Given the description of an element on the screen output the (x, y) to click on. 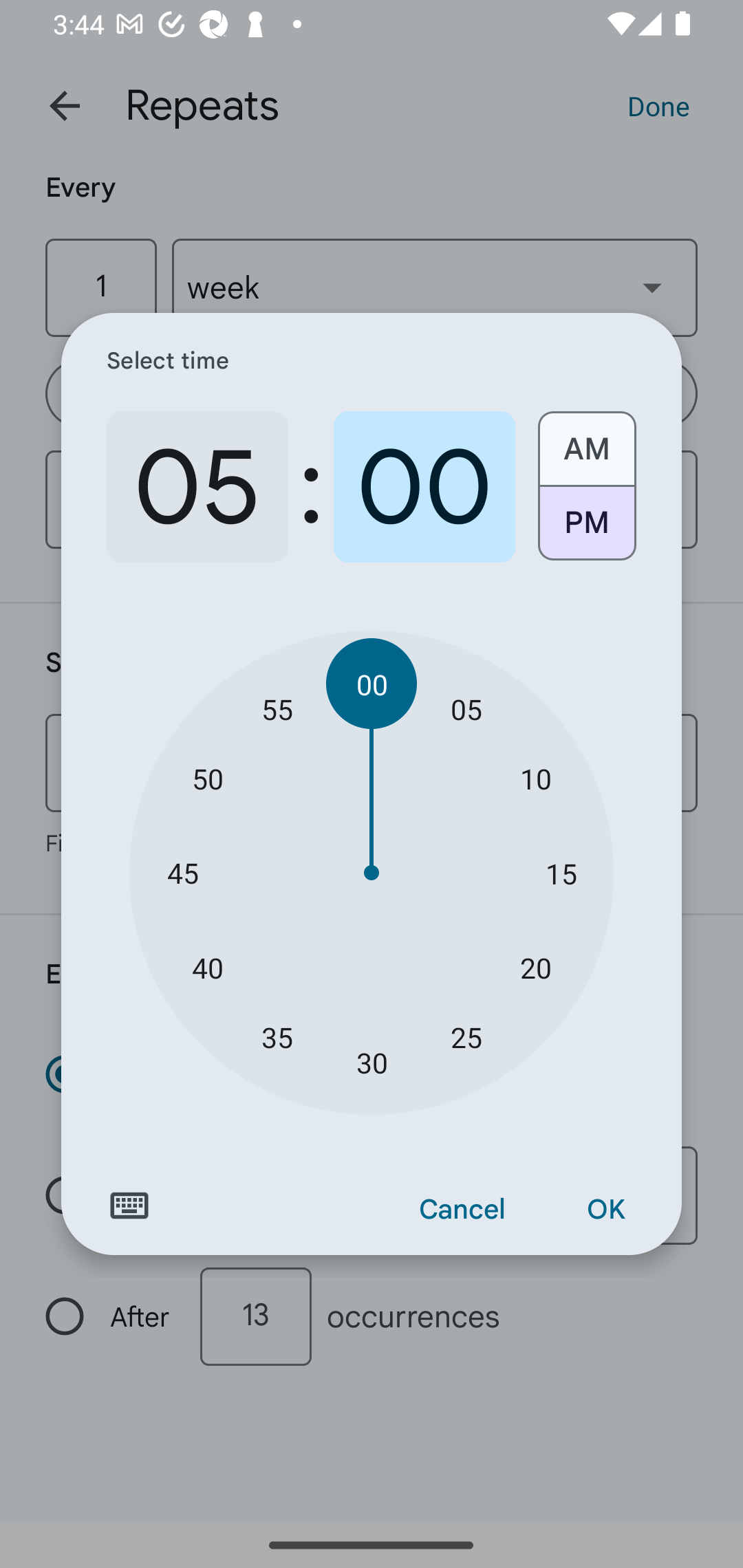
AM (586, 441)
05 5 o'clock (197, 486)
00 0 minutes (424, 486)
PM (586, 529)
00 00 minutes (371, 683)
55 55 minutes (276, 708)
05 05 minutes (466, 708)
50 50 minutes (207, 778)
10 10 minutes (535, 778)
45 45 minutes (182, 872)
15 15 minutes (561, 872)
40 40 minutes (207, 966)
20 20 minutes (535, 966)
35 35 minutes (276, 1035)
25 25 minutes (466, 1035)
30 30 minutes (371, 1062)
Switch to text input mode for the time input. (128, 1205)
Cancel (462, 1209)
OK (605, 1209)
